Given the description of an element on the screen output the (x, y) to click on. 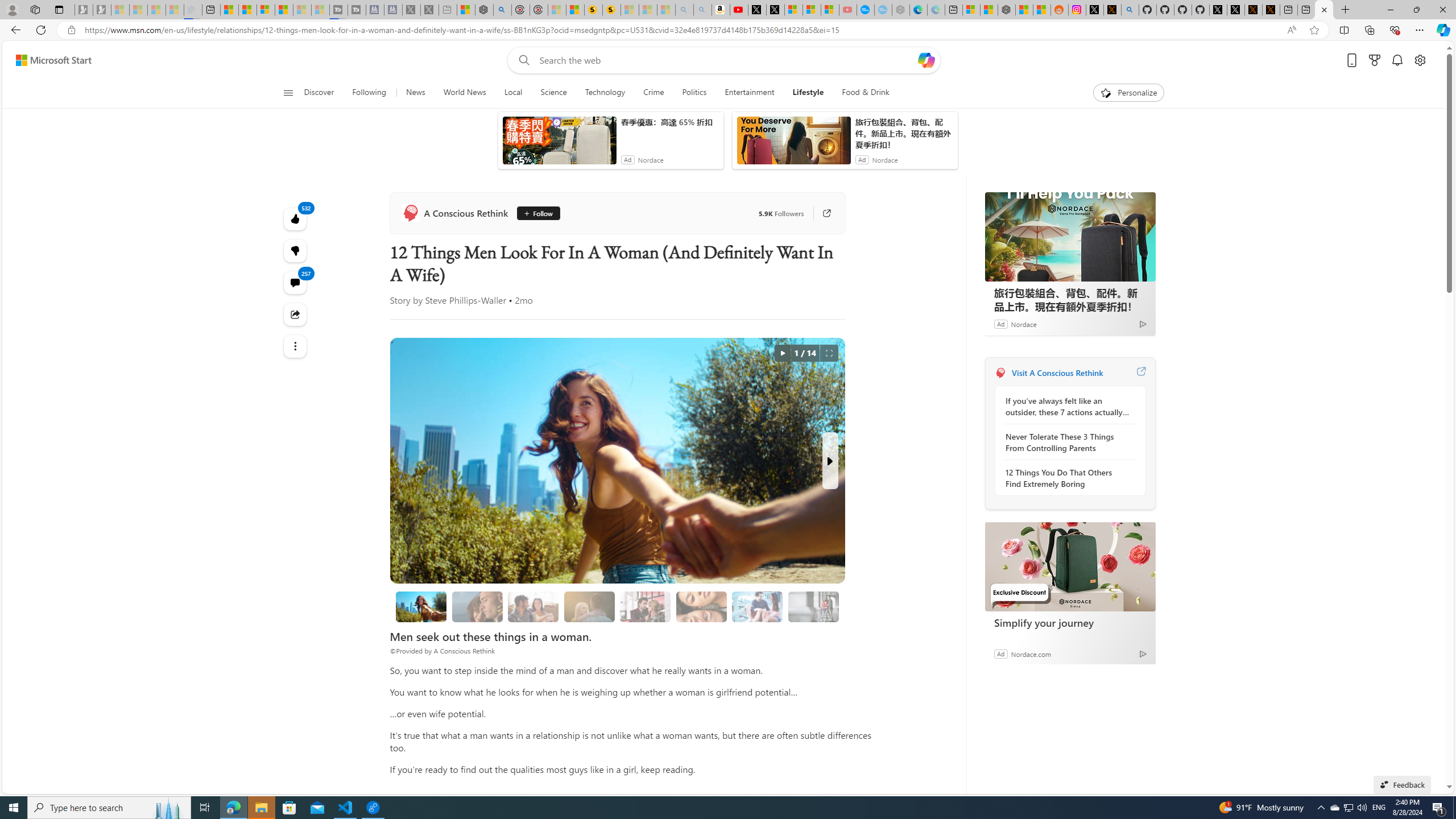
tab-1 (1012, 509)
Hotels in Bangkok (1048, 359)
Start the conversation (689, 327)
New tab - Sleeping (442, 9)
My location (1045, 179)
Money (498, 151)
AutomationID: tab-19 (460, 328)
Nordace - Duffels (989, 9)
Day 1: Arriving in Yemen (surreal to be here) - YouTube (724, 9)
